Given the description of an element on the screen output the (x, y) to click on. 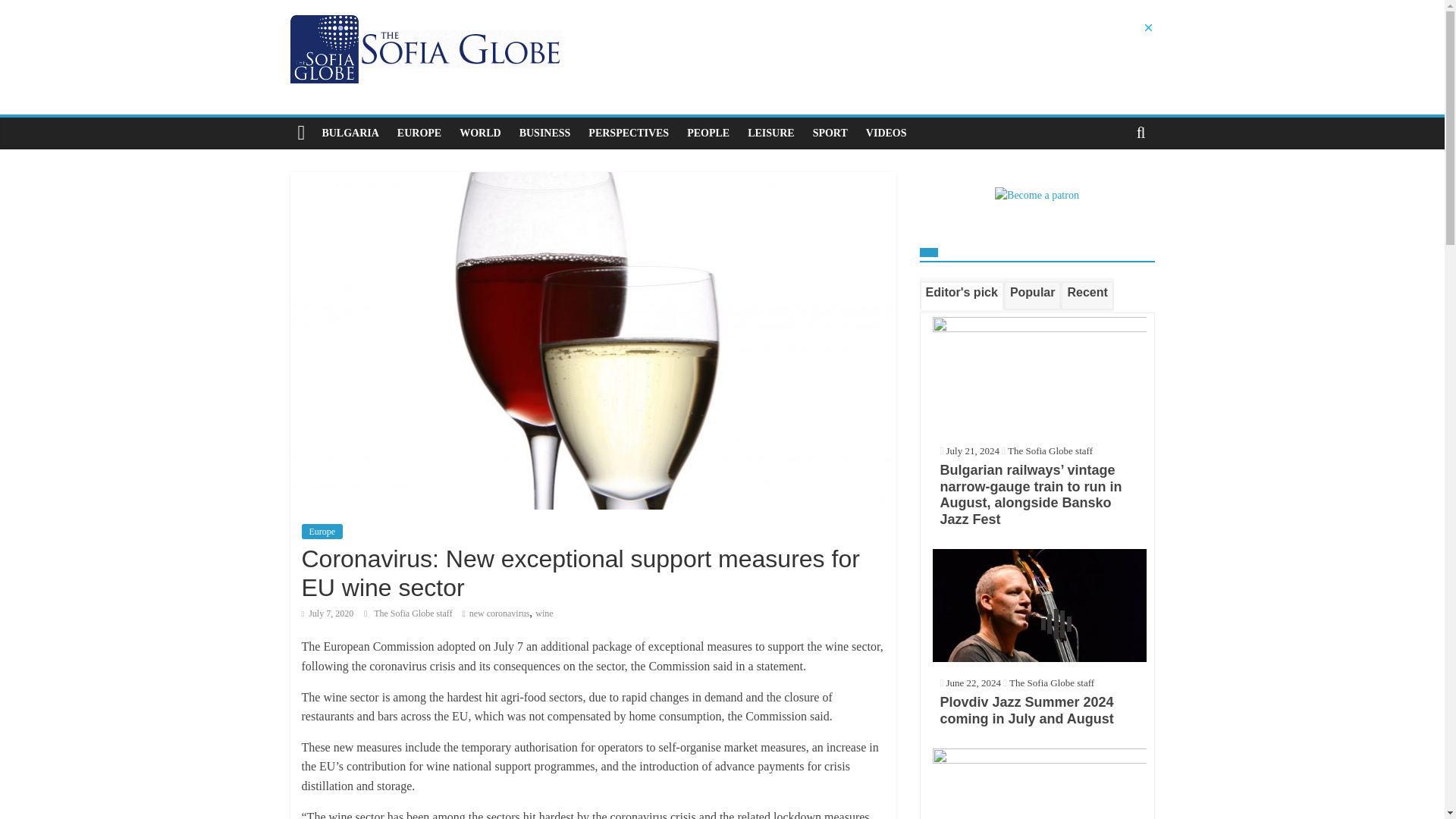
Europe (322, 531)
EUROPE (418, 133)
3rd party ad content (878, 55)
The Sofia Globe (301, 133)
PEOPLE (708, 133)
The Sofia Globe staff (414, 613)
PERSPECTIVES (628, 133)
1:29 PM (327, 613)
LEISURE (770, 133)
July 7, 2020 (327, 613)
SPORT (830, 133)
VIDEOS (886, 133)
wine (544, 613)
The Sofia Globe staff (414, 613)
BULGARIA (350, 133)
